Given the description of an element on the screen output the (x, y) to click on. 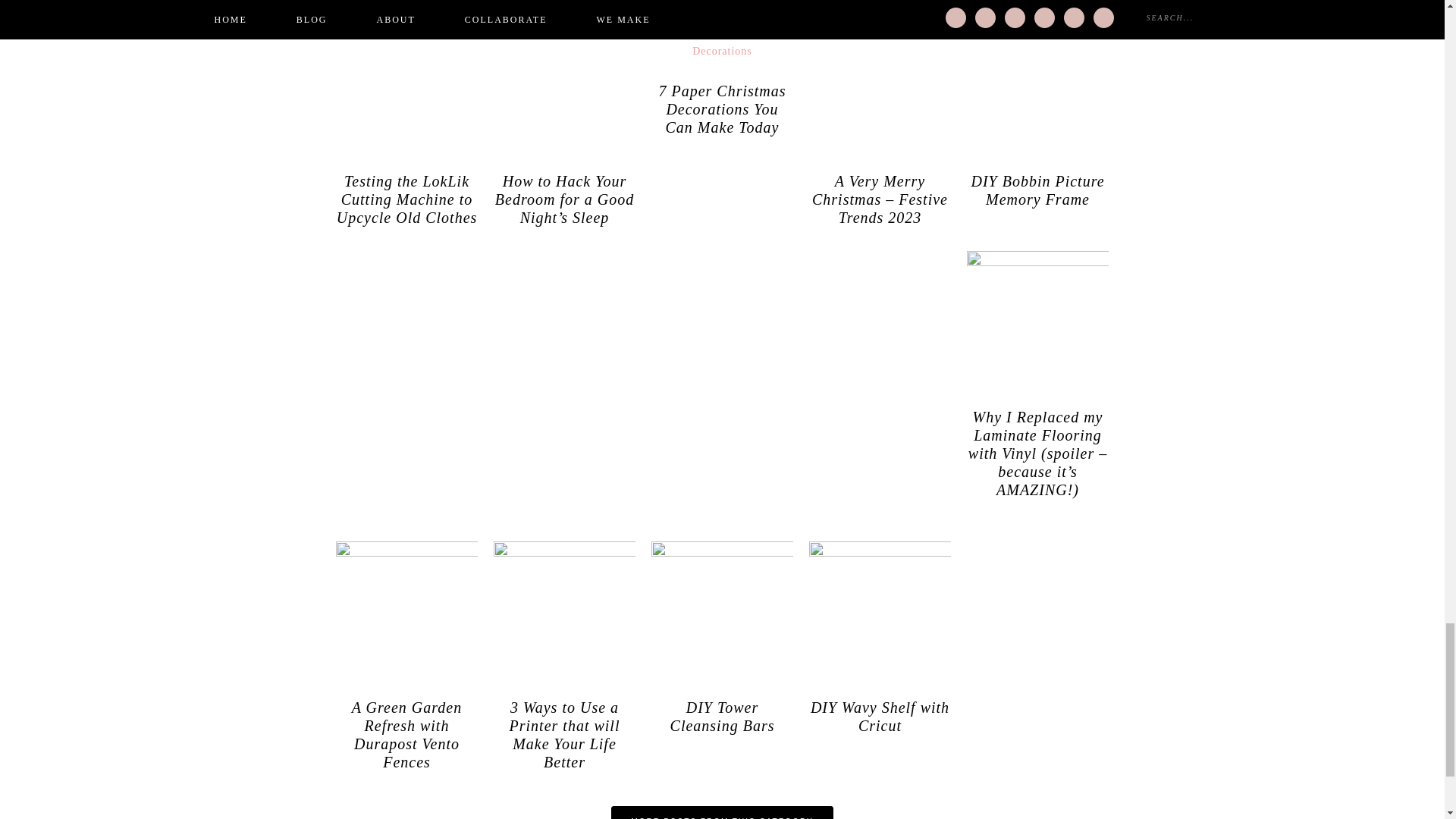
DIY (721, 812)
